Given the description of an element on the screen output the (x, y) to click on. 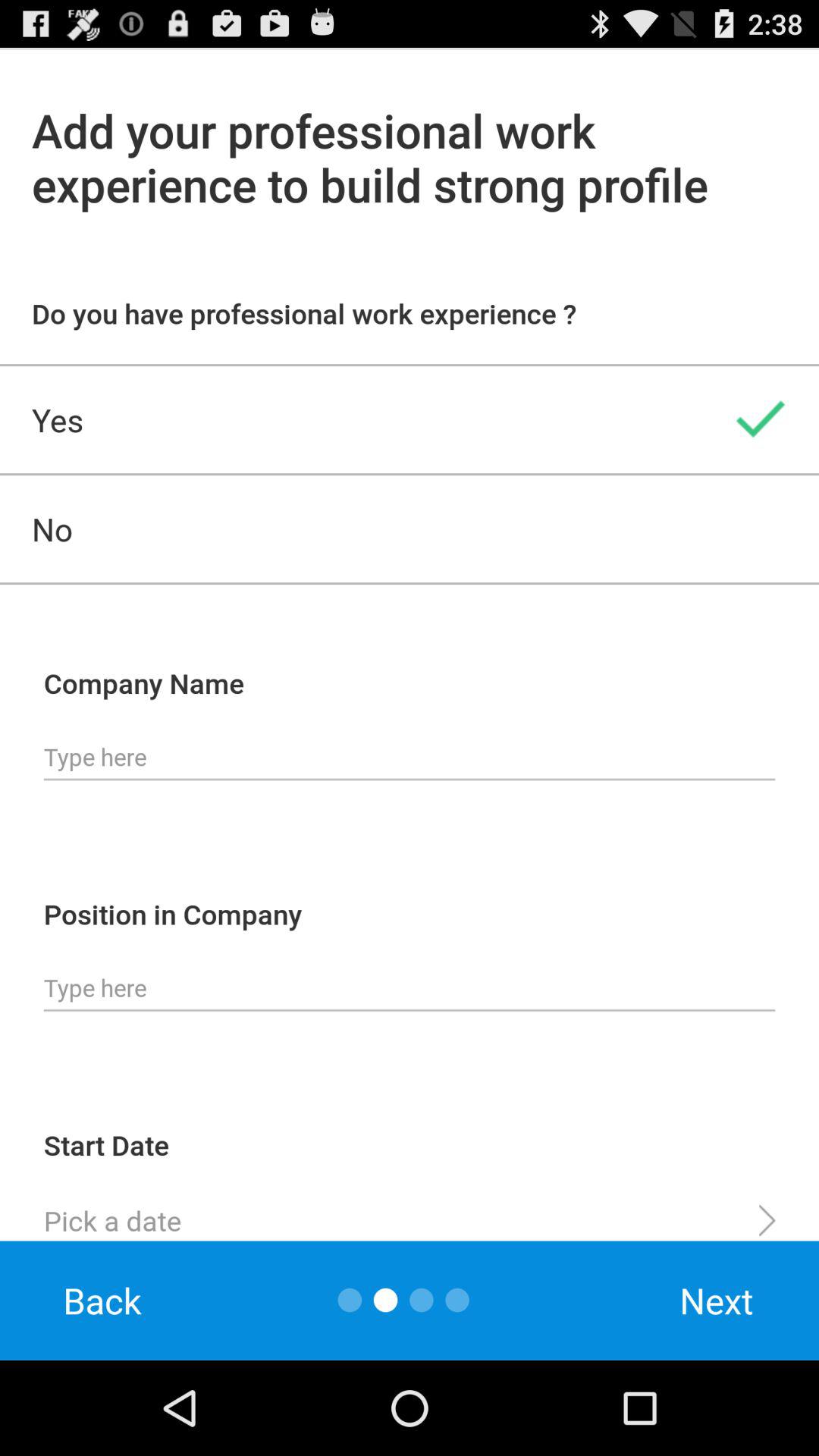
turn off icon above the back app (409, 1214)
